Given the description of an element on the screen output the (x, y) to click on. 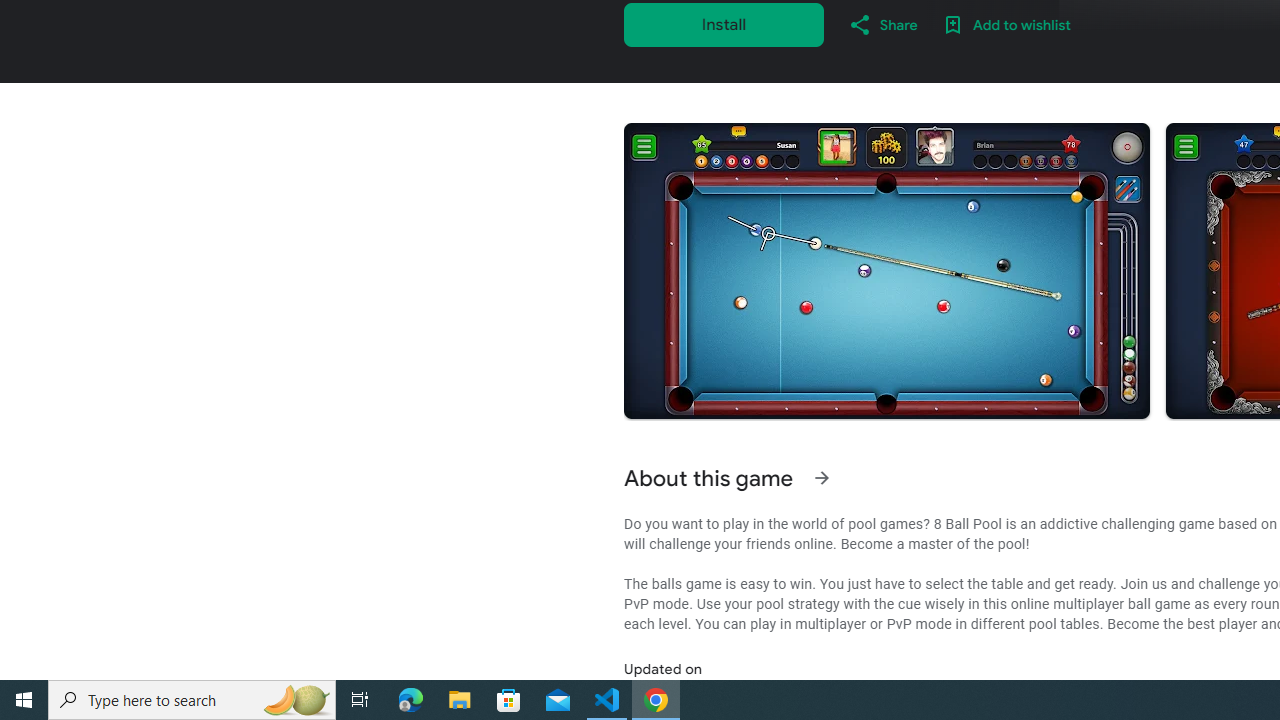
Screenshot image (886, 271)
Add to wishlist (1006, 24)
Install (723, 24)
Share (881, 24)
See more information on About this game (821, 477)
